Given the description of an element on the screen output the (x, y) to click on. 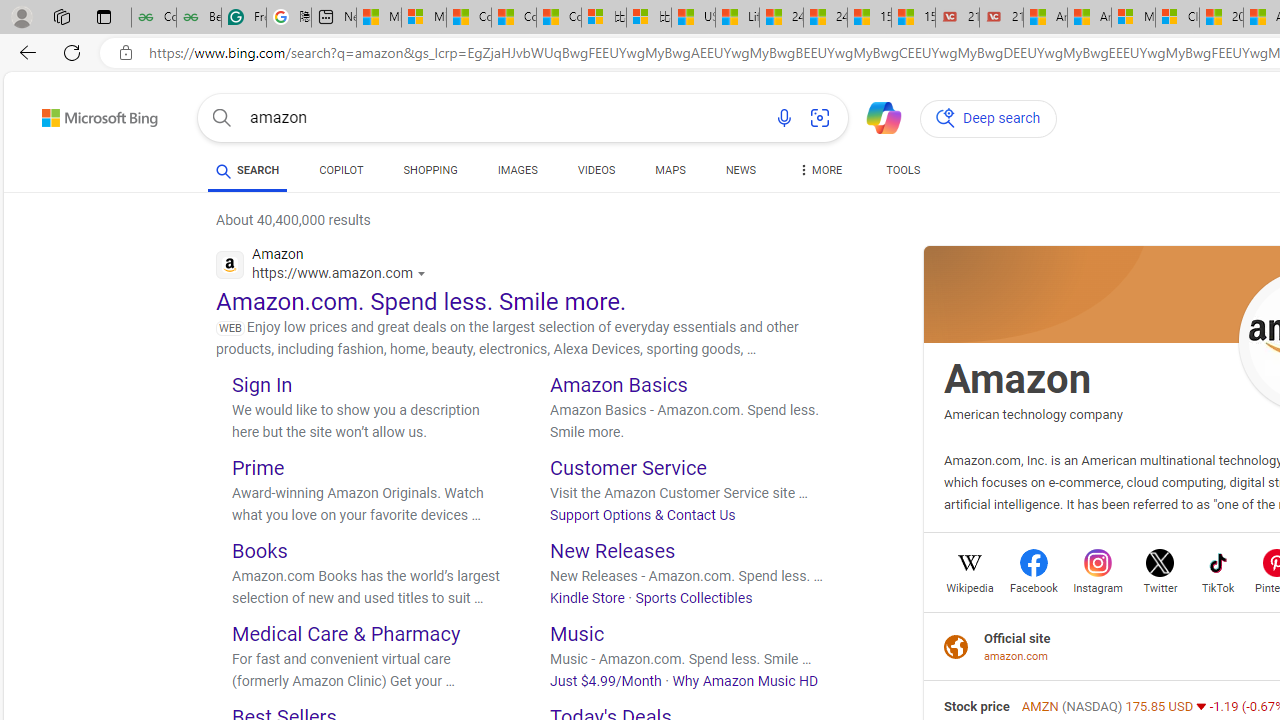
IMAGES (517, 170)
Twitter (1160, 586)
Stock price (976, 706)
VIDEOS (596, 170)
VIDEOS (596, 173)
175.85 USD  (1160, 706)
Lifestyle - MSN (737, 17)
Dropdown Menu (819, 170)
Chat (875, 116)
